Given the description of an element on the screen output the (x, y) to click on. 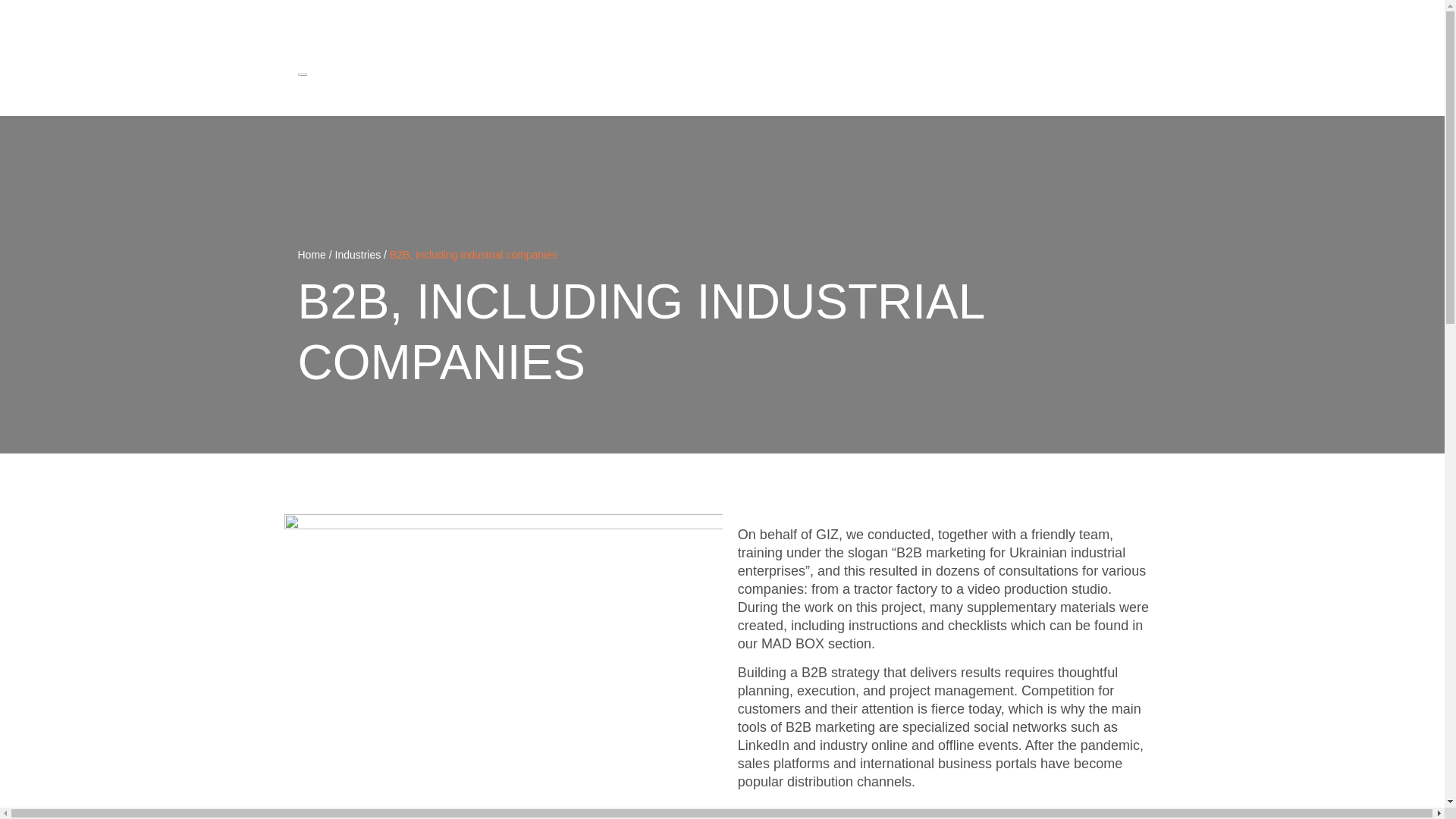
Contacts (1125, 72)
Home (310, 254)
Services (849, 72)
Industries (357, 254)
About us (969, 72)
B2B, including industrial companies (473, 254)
Industries (908, 72)
Mad Box (1028, 72)
Blog (1077, 72)
EN (1130, 19)
